Given the description of an element on the screen output the (x, y) to click on. 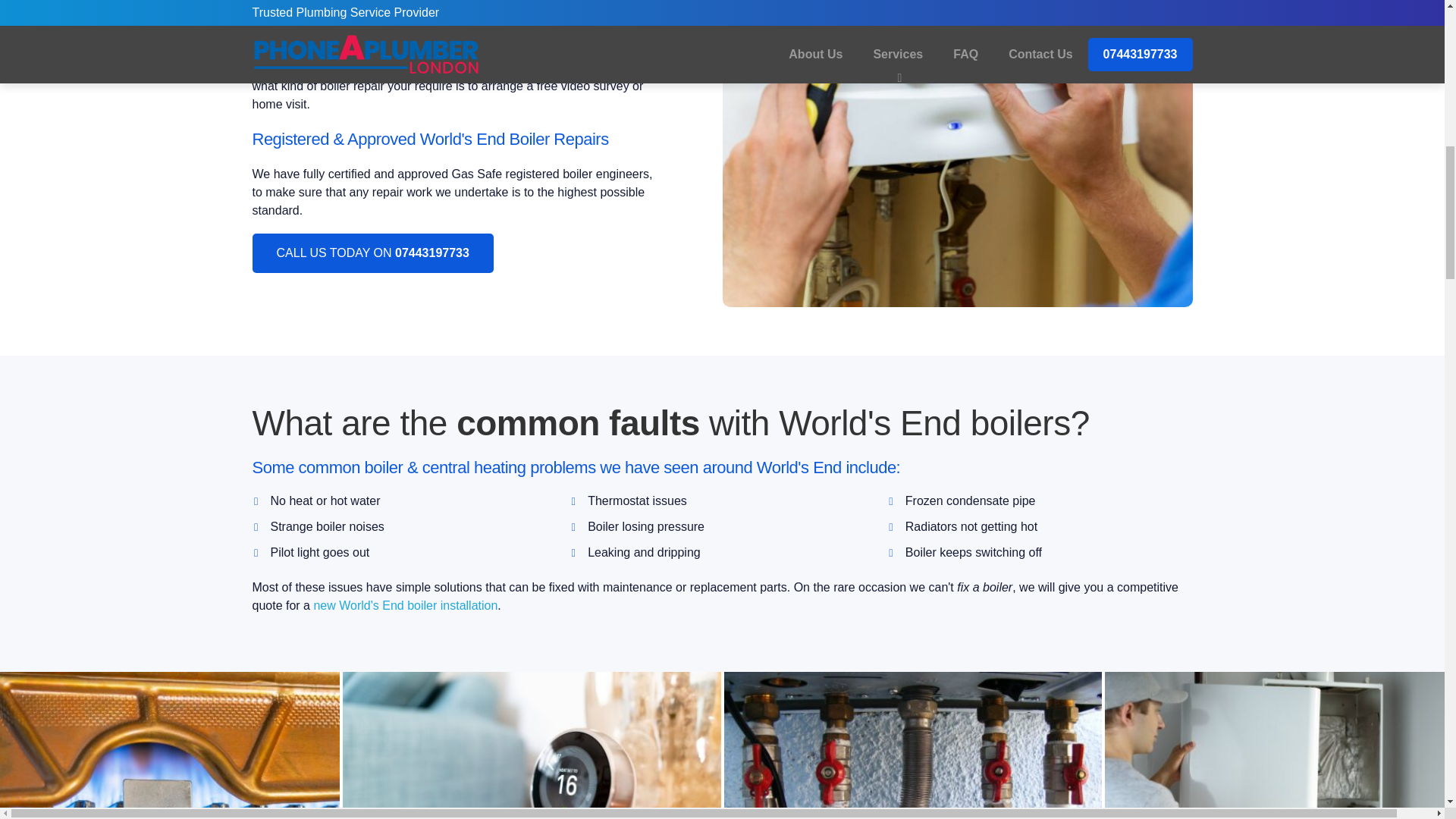
CALL US TODAY ON 07443197733 (372, 252)
new World's End boiler installation (405, 604)
